Given the description of an element on the screen output the (x, y) to click on. 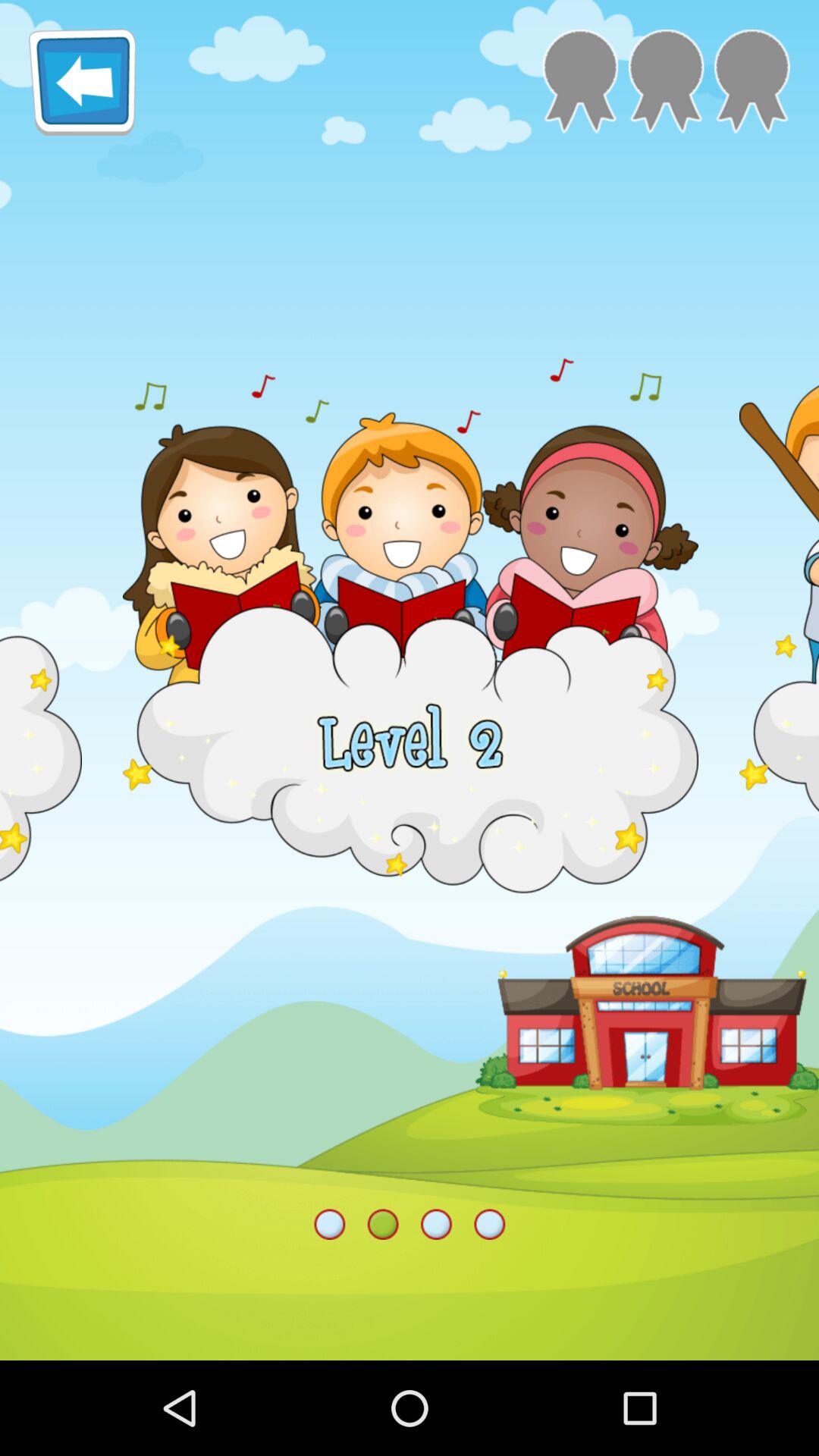
move to the 2nd level (666, 81)
